Given the description of an element on the screen output the (x, y) to click on. 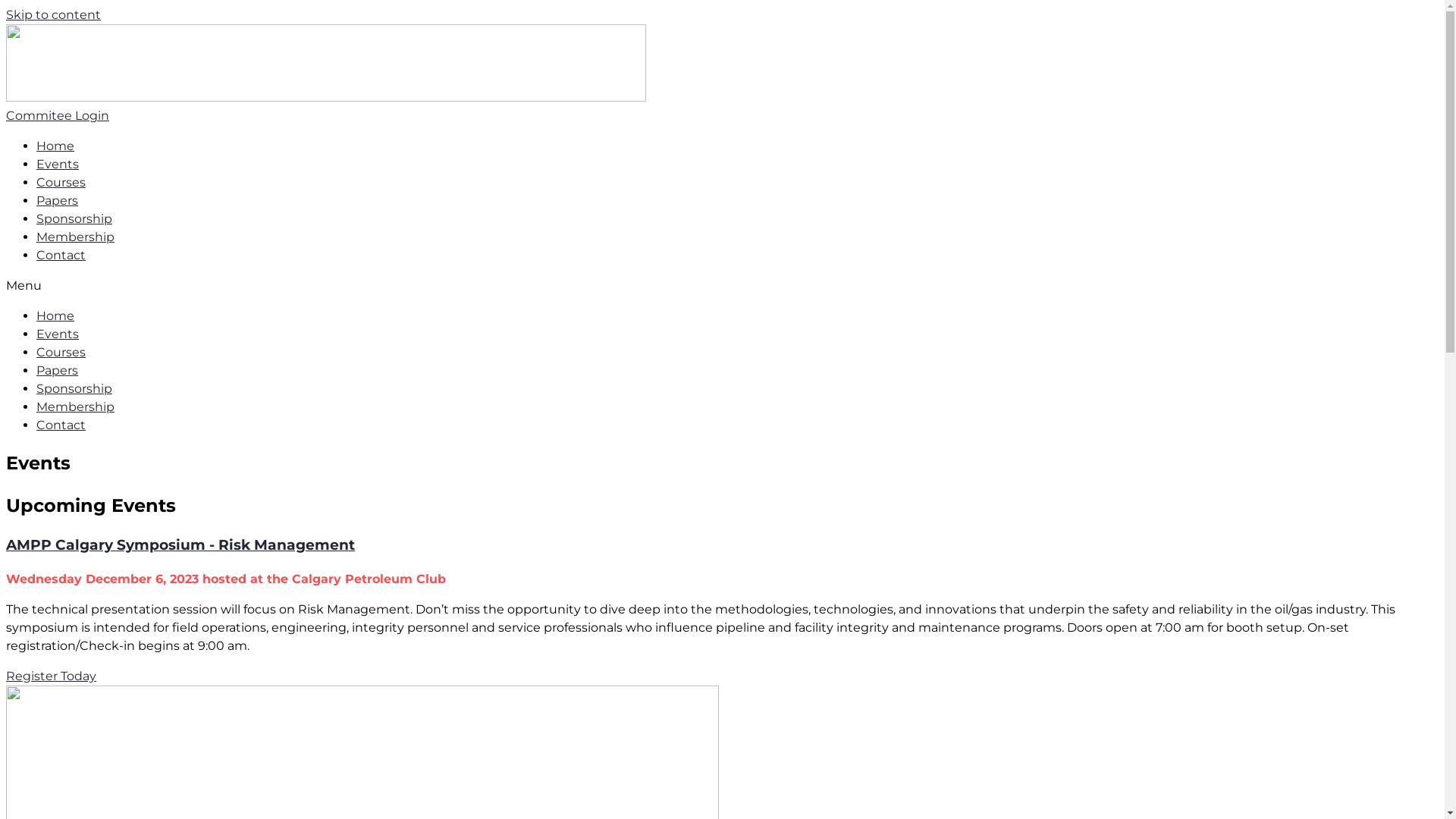
Home Element type: text (55, 145)
Sponsorship Element type: text (74, 218)
Membership Element type: text (75, 406)
Register Today Element type: text (51, 675)
Events Element type: text (57, 163)
Commitee Login Element type: text (57, 115)
Skip to content Element type: text (53, 14)
Papers Element type: text (57, 370)
Membership Element type: text (75, 236)
Contact Element type: text (60, 254)
Events Element type: text (57, 333)
AMPP Calgary Symposium - Risk Management Element type: text (180, 544)
Home Element type: text (55, 315)
Sponsorship Element type: text (74, 388)
Contact Element type: text (60, 424)
Courses Element type: text (60, 352)
Papers Element type: text (57, 200)
Courses Element type: text (60, 182)
